Given the description of an element on the screen output the (x, y) to click on. 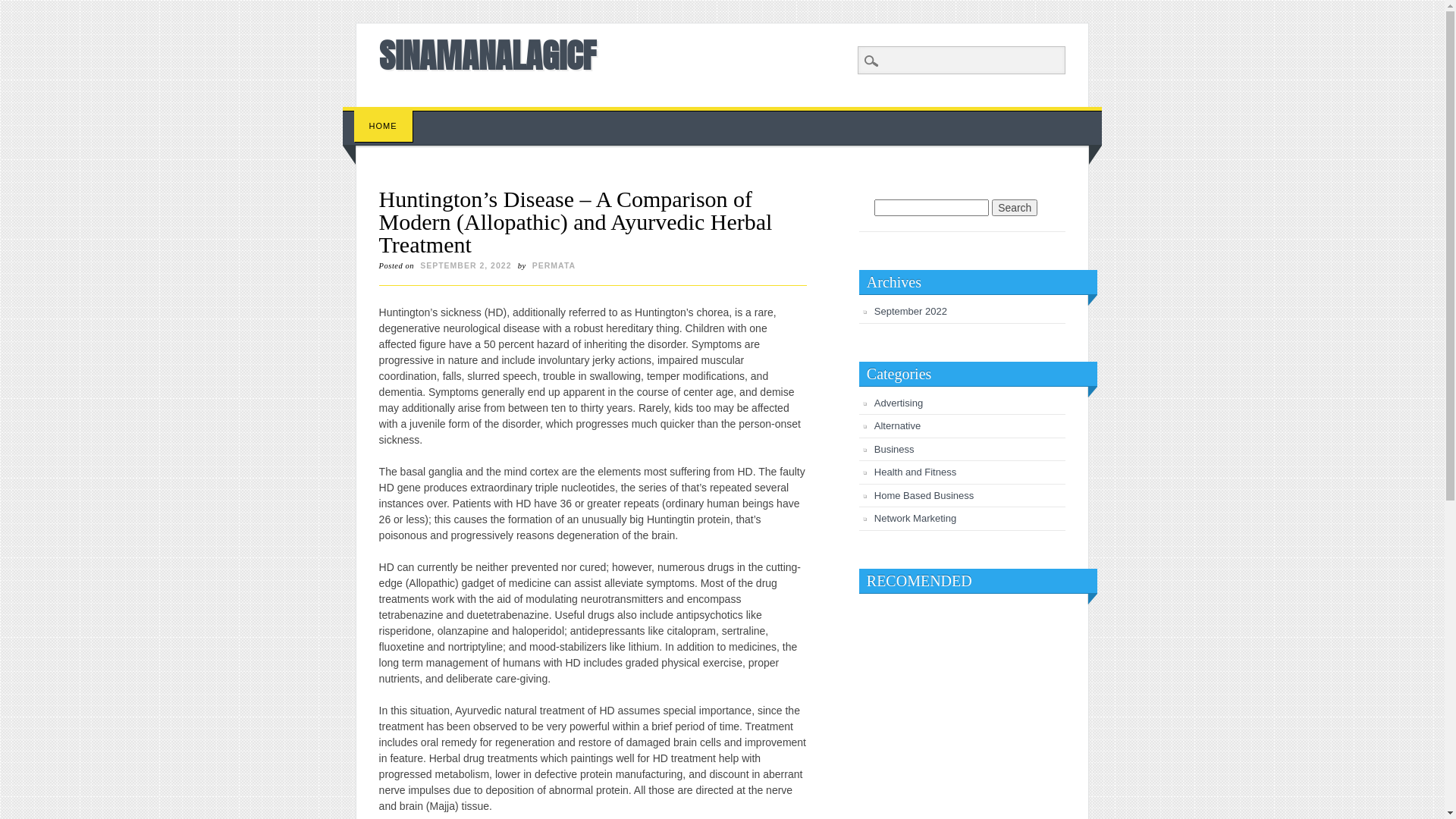
Advertising Element type: text (898, 402)
HOME Element type: text (383, 125)
Home Based Business Element type: text (924, 495)
SINAMANALAGICF Element type: text (487, 55)
Health and Fitness Element type: text (915, 471)
PERMATA Element type: text (553, 264)
Search Element type: text (1014, 207)
Business Element type: text (894, 449)
Skip to content Element type: text (377, 114)
Search Element type: text (22, 8)
Alternative Element type: text (897, 425)
Network Marketing Element type: text (915, 518)
September 2022 Element type: text (910, 310)
SEPTEMBER 2, 2022 Element type: text (465, 264)
